Given the description of an element on the screen output the (x, y) to click on. 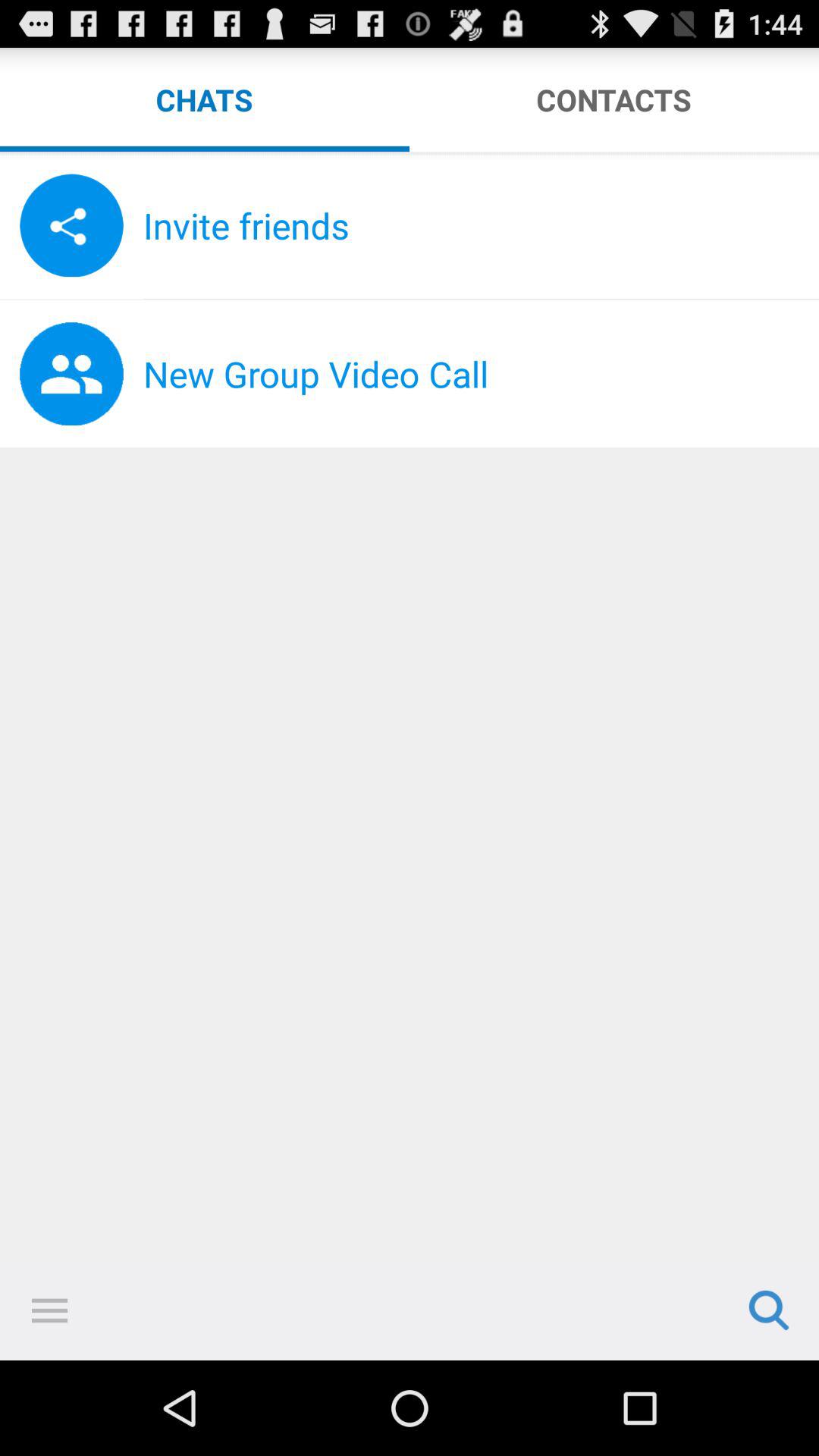
tap new group video app (481, 373)
